Given the description of an element on the screen output the (x, y) to click on. 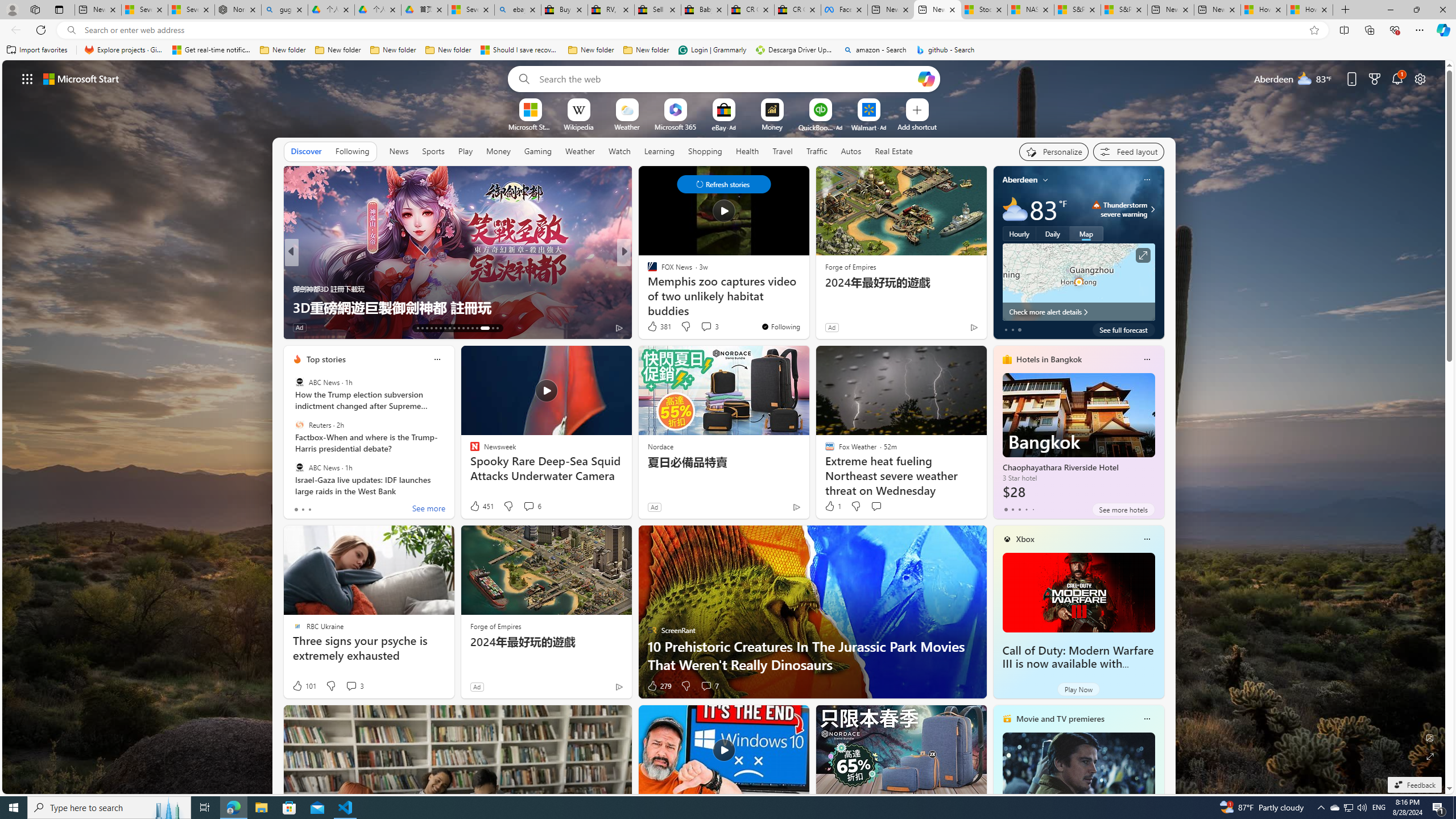
ebay - Search (517, 9)
ABC News (299, 466)
New folder (646, 49)
381 Like (658, 326)
Play Now (1078, 689)
Import favorites (36, 49)
Sell worldwide with eBay (656, 9)
AutomationID: tab-20 (449, 328)
Facebook (844, 9)
RV, Trailer & Camper Steps & Ladders for sale | eBay (610, 9)
